Given the description of an element on the screen output the (x, y) to click on. 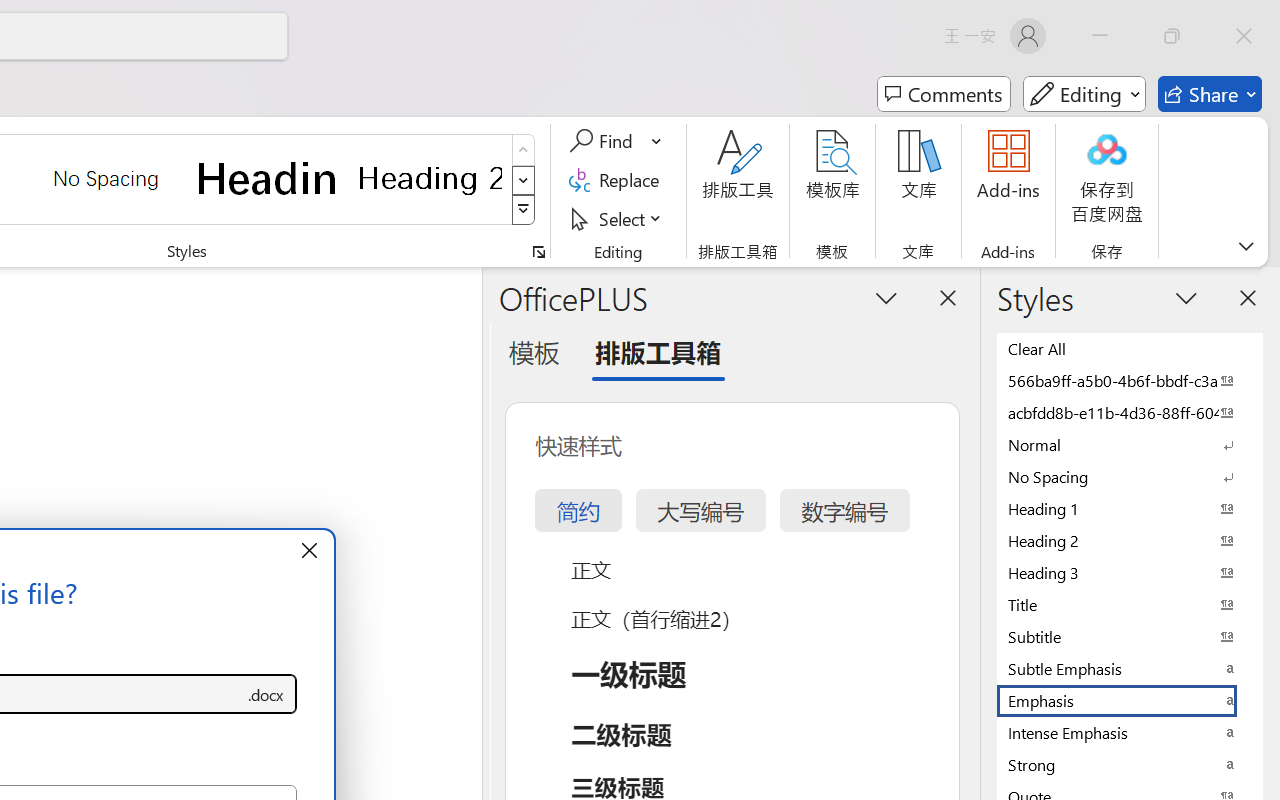
Subtitle (1130, 636)
Share (1210, 94)
Replace... (617, 179)
Subtle Emphasis (1130, 668)
